Given the description of an element on the screen output the (x, y) to click on. 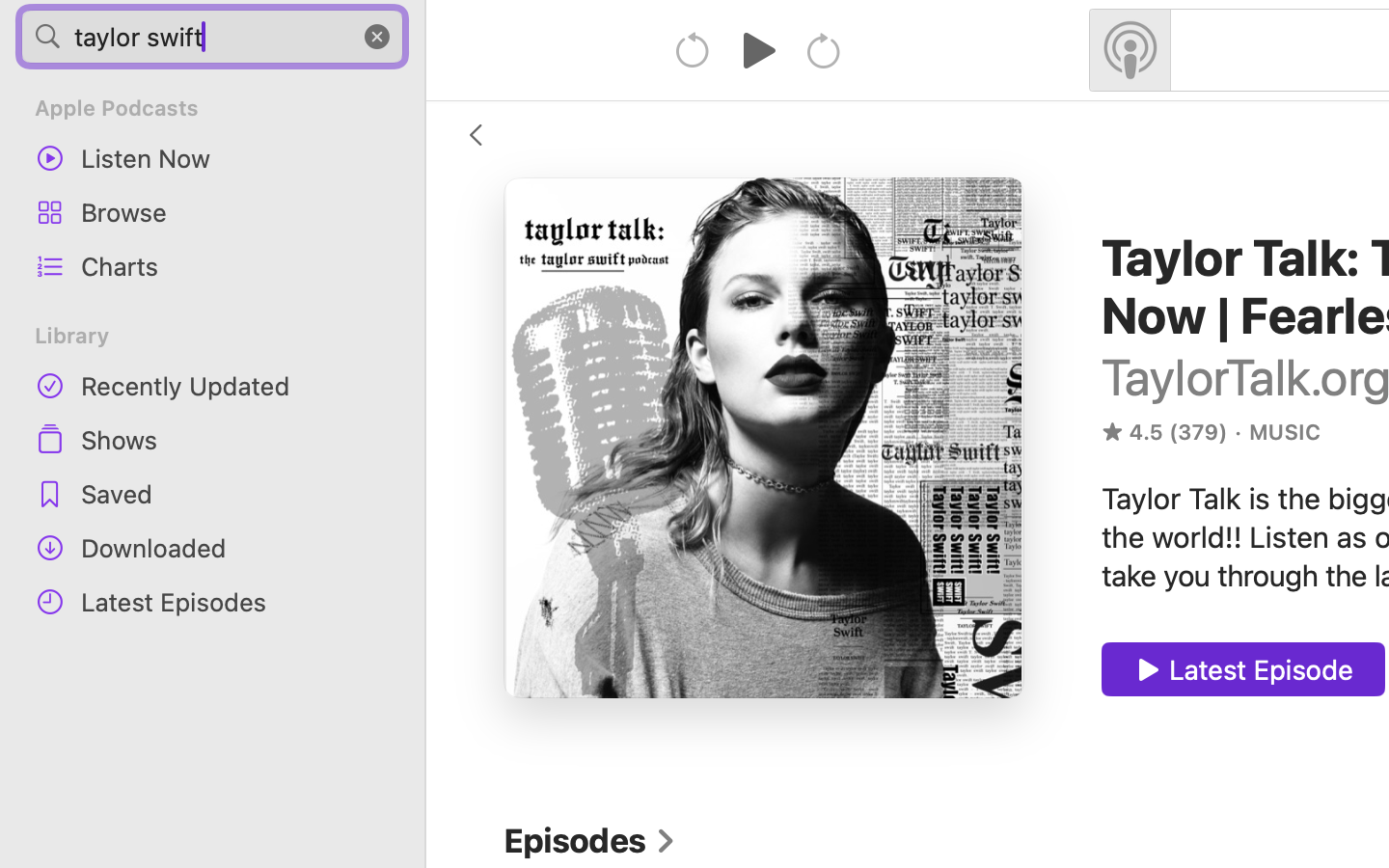
taylor swift Element type: AXTextField (212, 36)
